Given the description of an element on the screen output the (x, y) to click on. 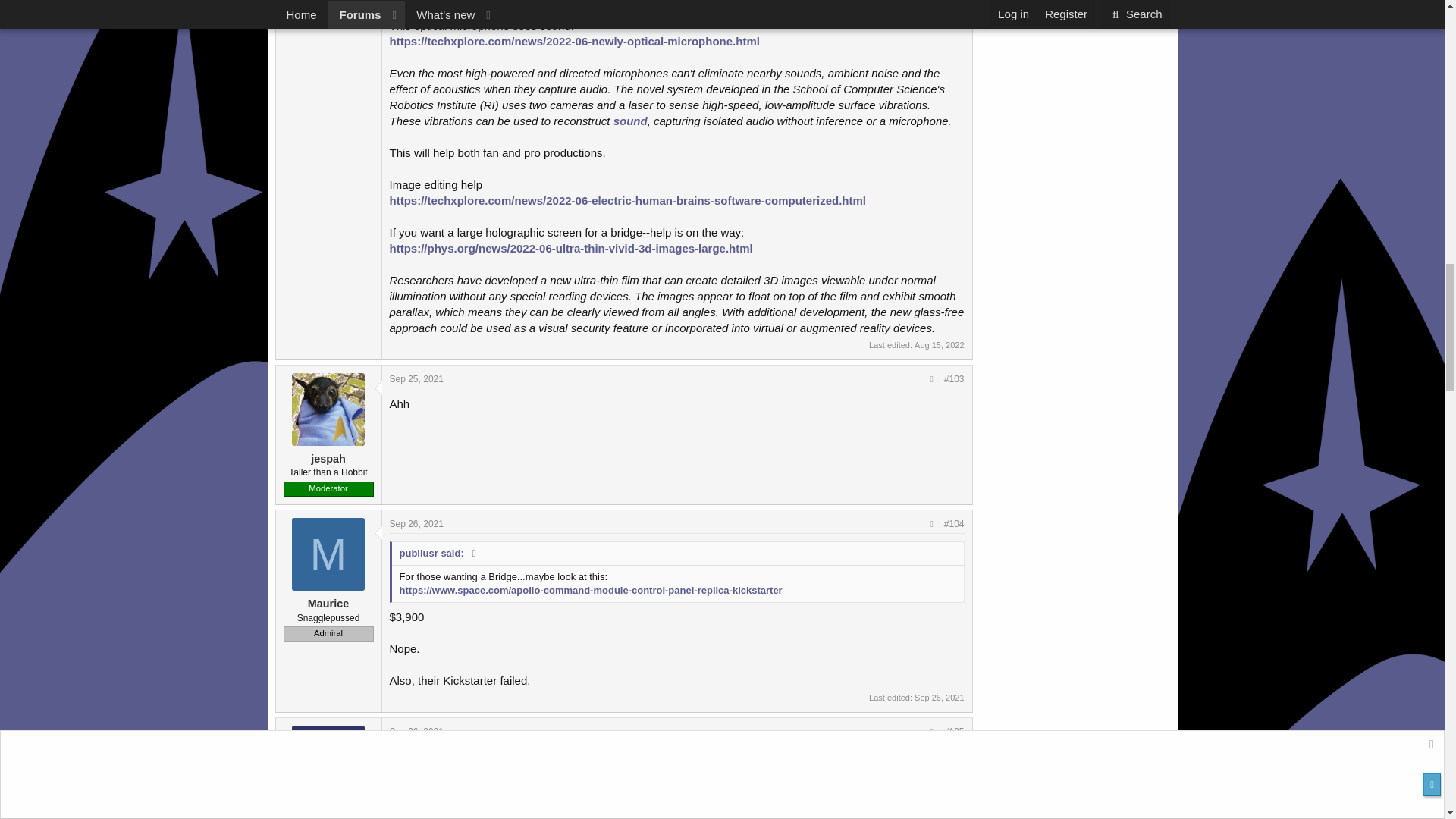
Aug 15, 2022 at 10:36 AM (938, 344)
Sep 26, 2021 at 6:31 AM (417, 731)
Sep 26, 2021 at 2:09 AM (417, 523)
Sep 26, 2021 at 2:50 AM (938, 696)
Sep 25, 2021 at 2:11 PM (417, 378)
